Given the description of an element on the screen output the (x, y) to click on. 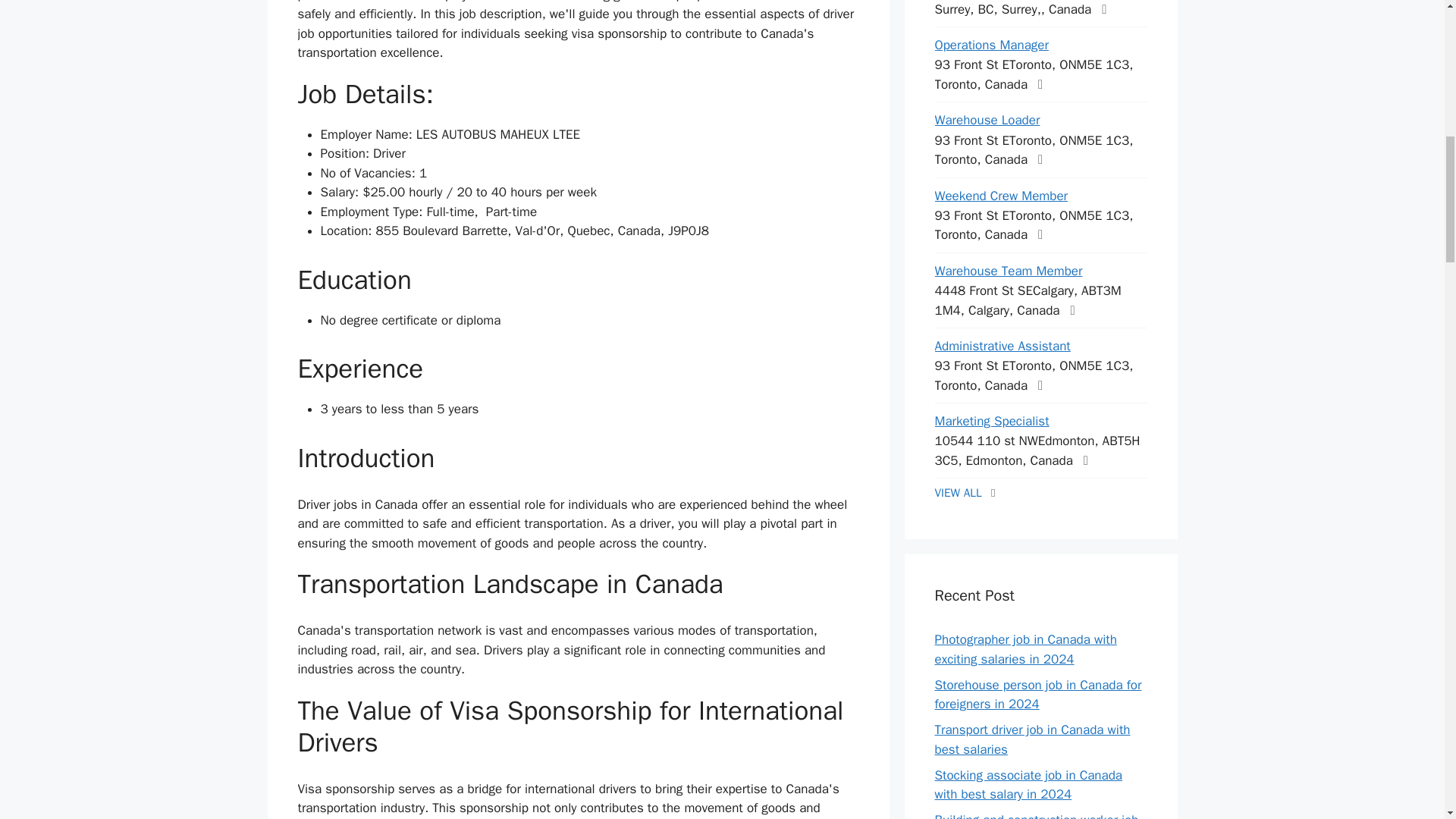
VIEW ALL (957, 492)
Stocking associate job in Canada with best salary in 2024 (1028, 785)
Marketing Specialist (991, 421)
Warehouse Loader (986, 119)
Storehouse person job in Canada for foreigners in 2024 (1037, 694)
Administrative Assistant (1002, 345)
Photographer job in Canada with exciting salaries in 2024 (1025, 649)
Transport driver job in Canada with best salaries (1031, 739)
Weekend Crew Member (1000, 195)
